Given the description of an element on the screen output the (x, y) to click on. 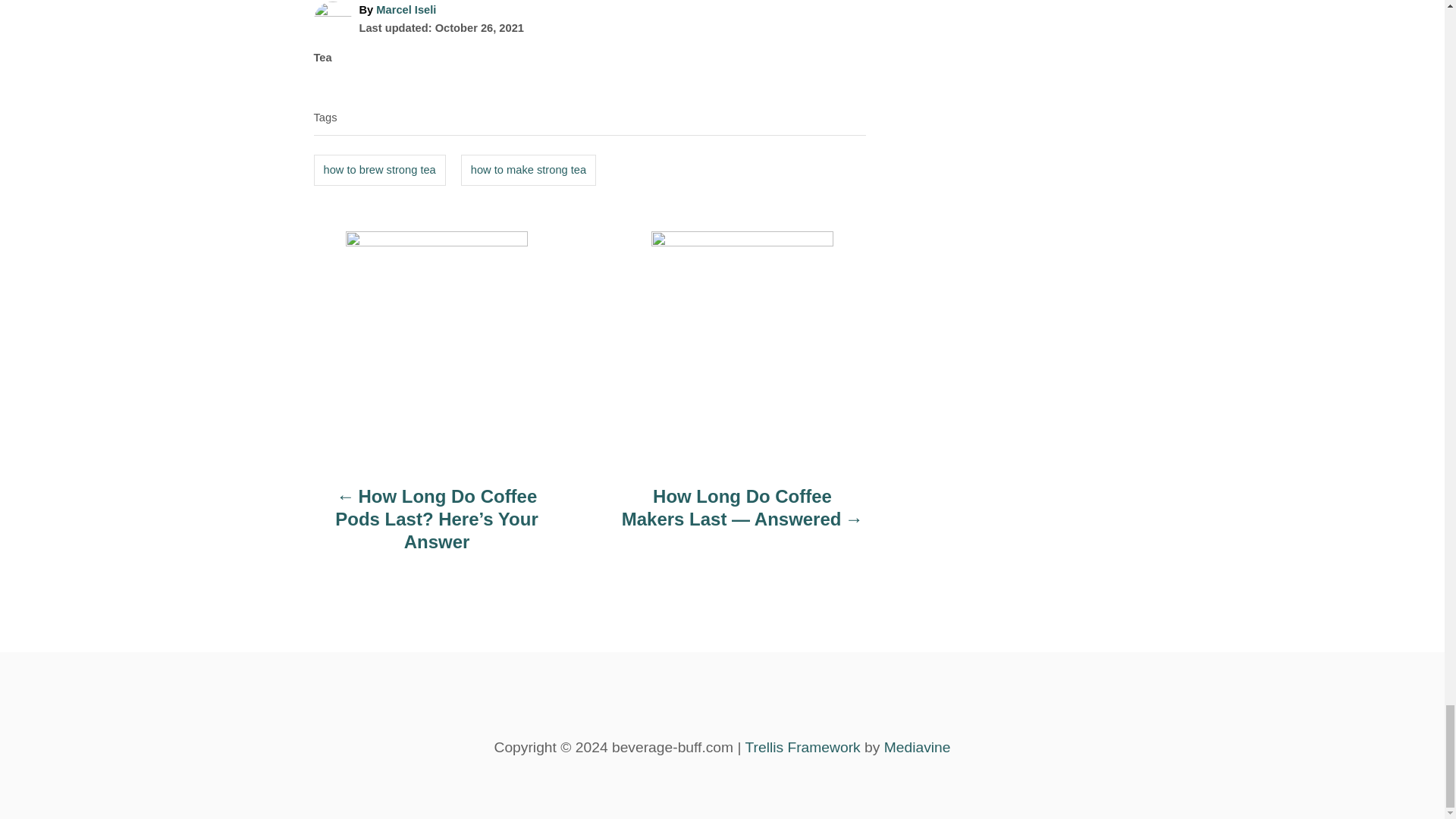
Trellis Framework (802, 747)
how to brew strong tea (379, 170)
Tea (322, 57)
Marcel Iseli (405, 9)
Mediavine (916, 747)
how to make strong tea (528, 170)
